Given the description of an element on the screen output the (x, y) to click on. 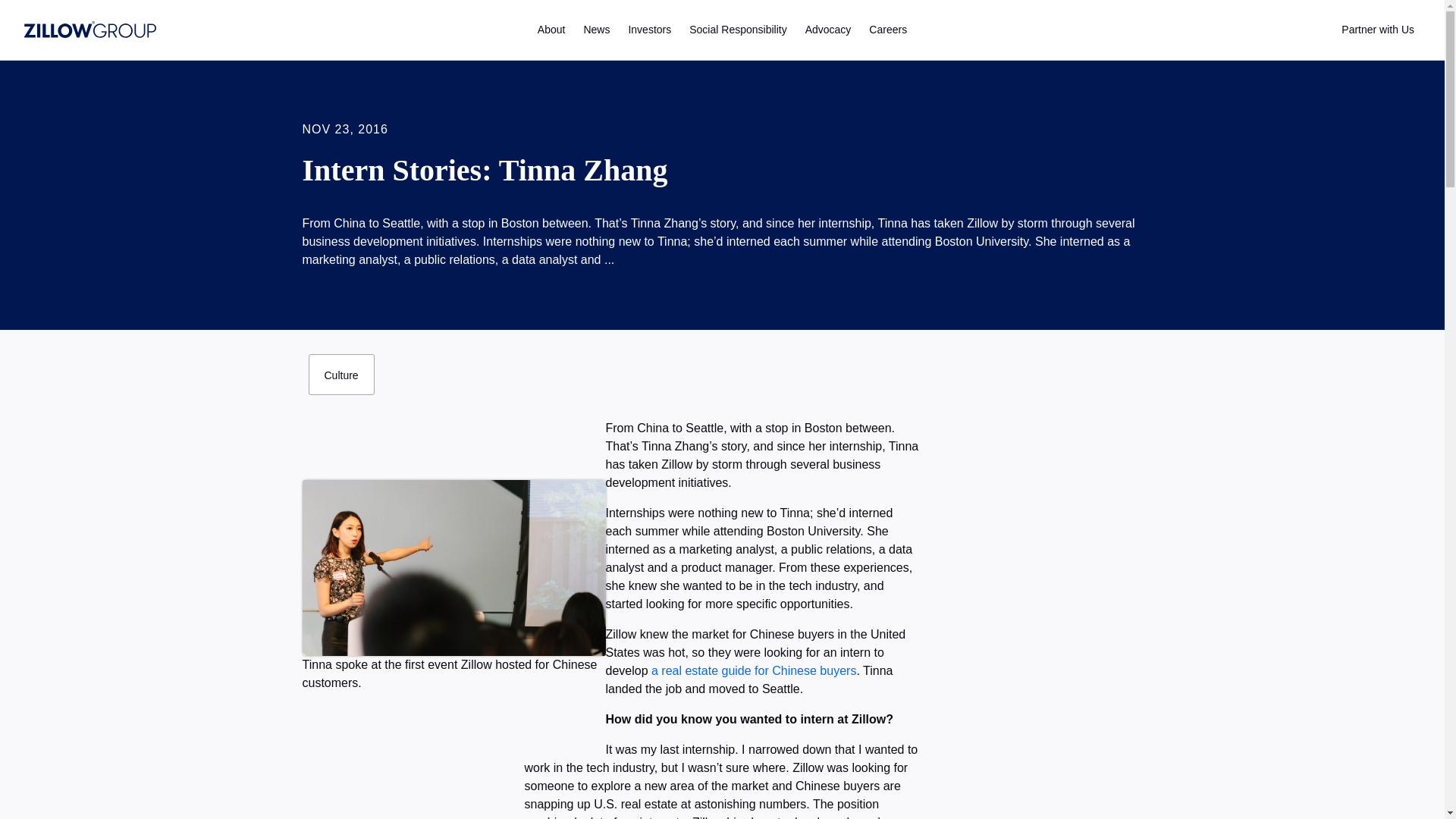
Investors (649, 29)
Social Responsibility (737, 29)
Social Responsibility (737, 29)
Partner with Us (1378, 29)
Advocacy (828, 29)
Culture (340, 373)
a real estate guide for Chinese buyers (753, 670)
Advocacy (828, 29)
Investors (649, 29)
